Given the description of an element on the screen output the (x, y) to click on. 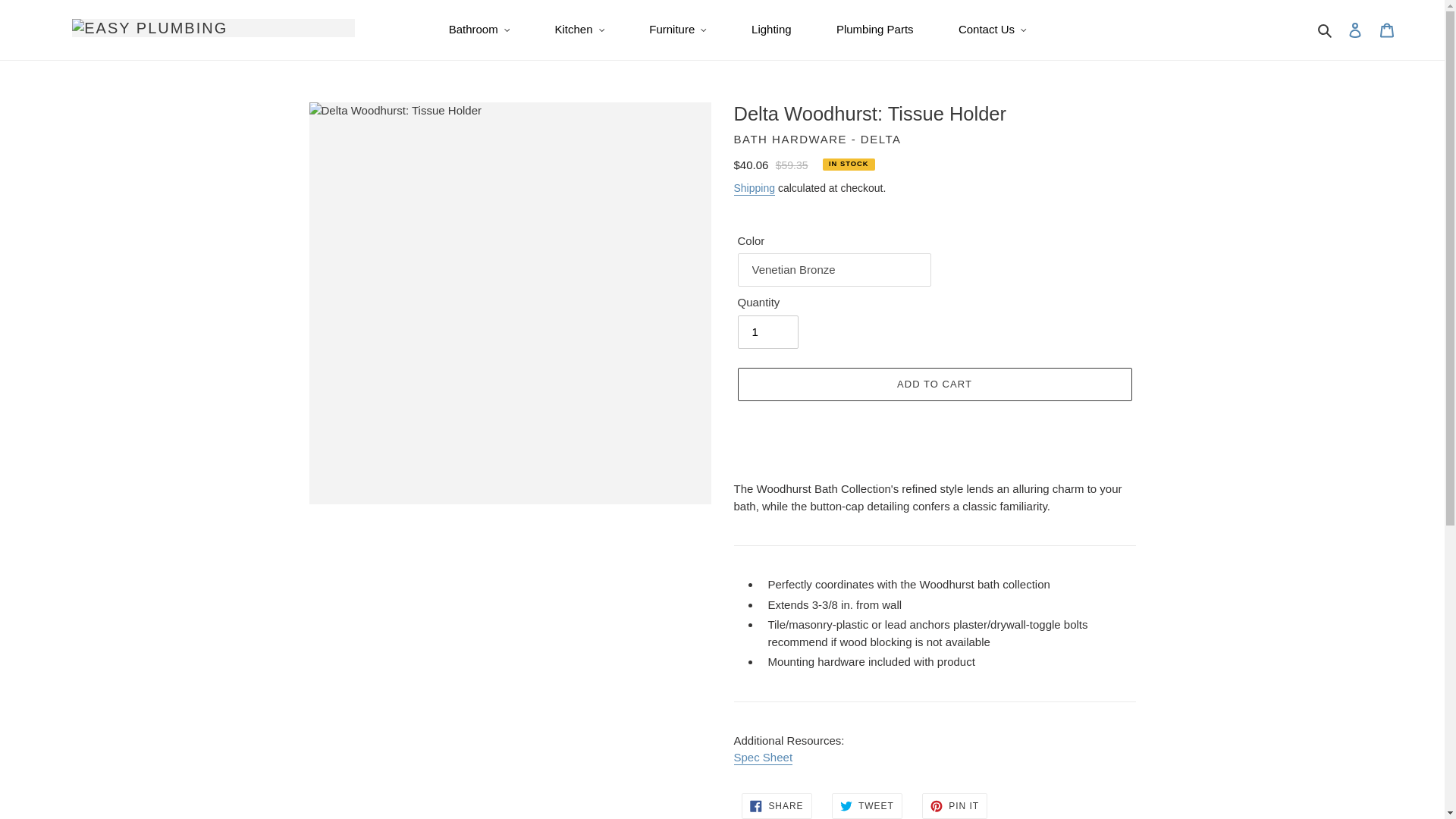
Search (1326, 29)
Kitchen (579, 29)
Plumbing Parts (874, 29)
Log in (1355, 29)
Furniture (678, 29)
1 (766, 331)
Cart (1387, 29)
Lighting (771, 29)
Bathroom (479, 29)
Contact Us (991, 29)
